Given the description of an element on the screen output the (x, y) to click on. 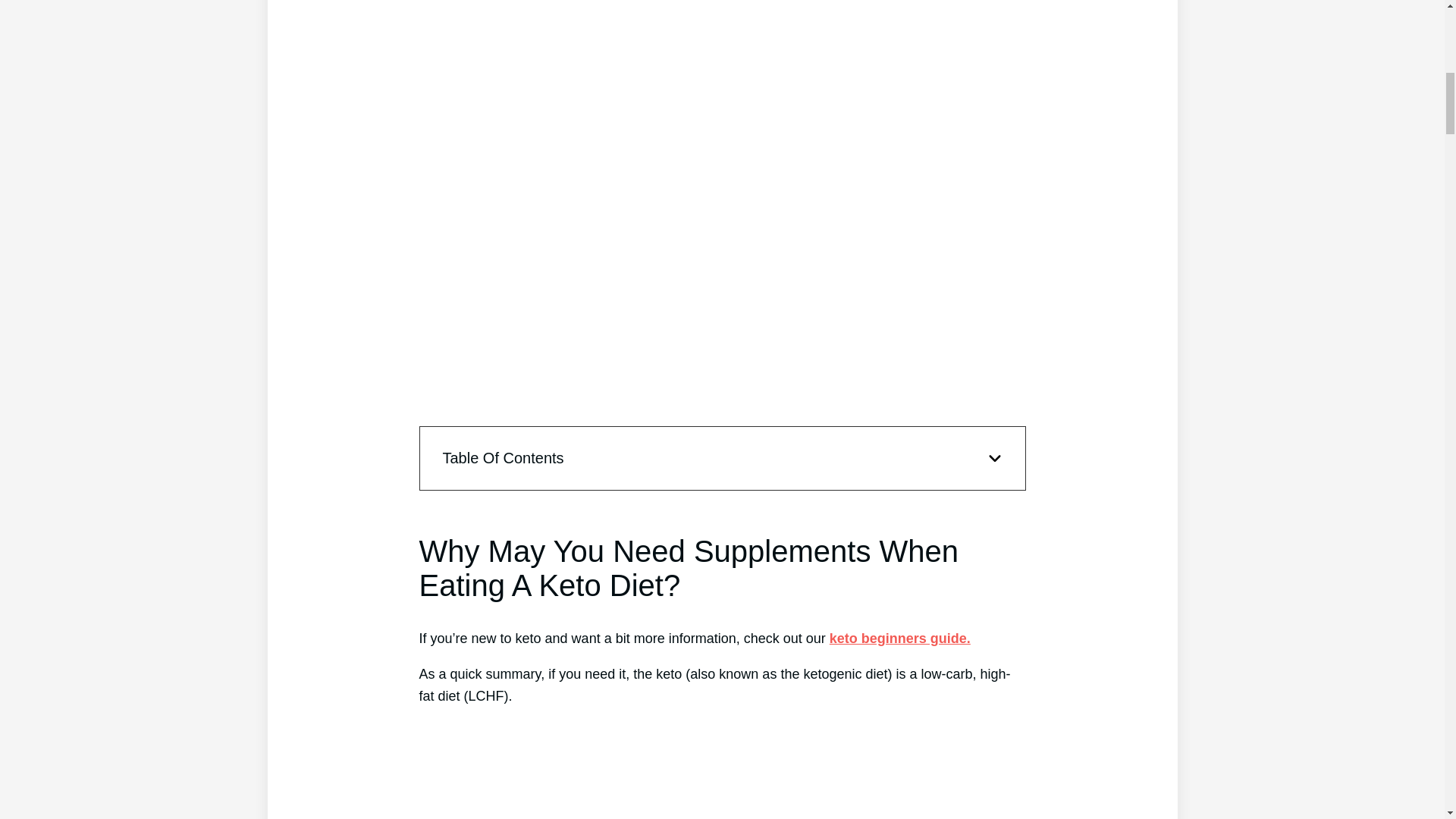
keto beginners guide. (900, 638)
